Given the description of an element on the screen output the (x, y) to click on. 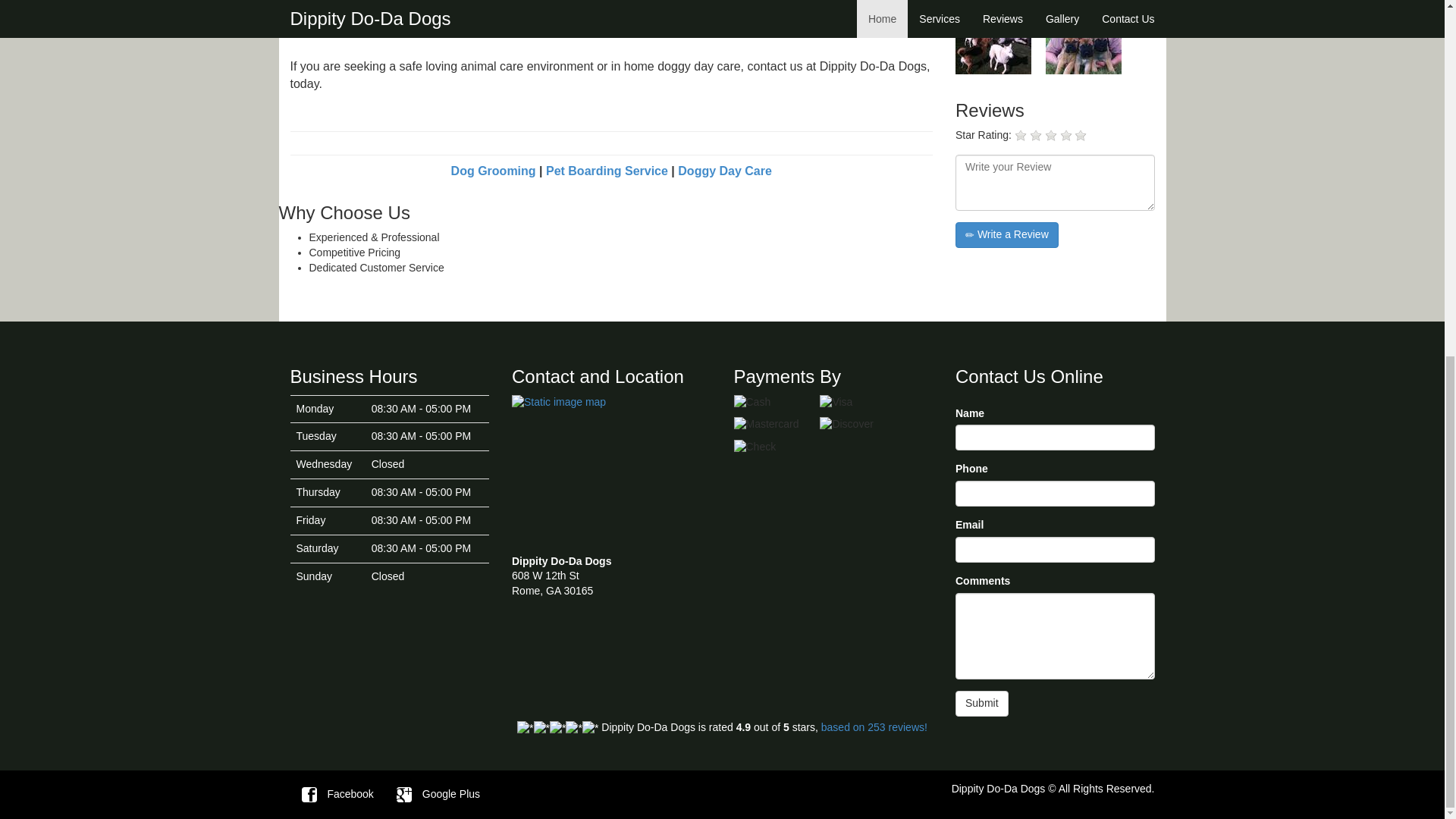
gorgeous (1080, 135)
Doggy Day Care (724, 170)
poor (1035, 135)
Cash (771, 402)
regular (1051, 135)
MasterCard (771, 424)
bad (1020, 135)
Submit (982, 703)
Dog Grooming (493, 170)
Write a Review (1006, 234)
